Given the description of an element on the screen output the (x, y) to click on. 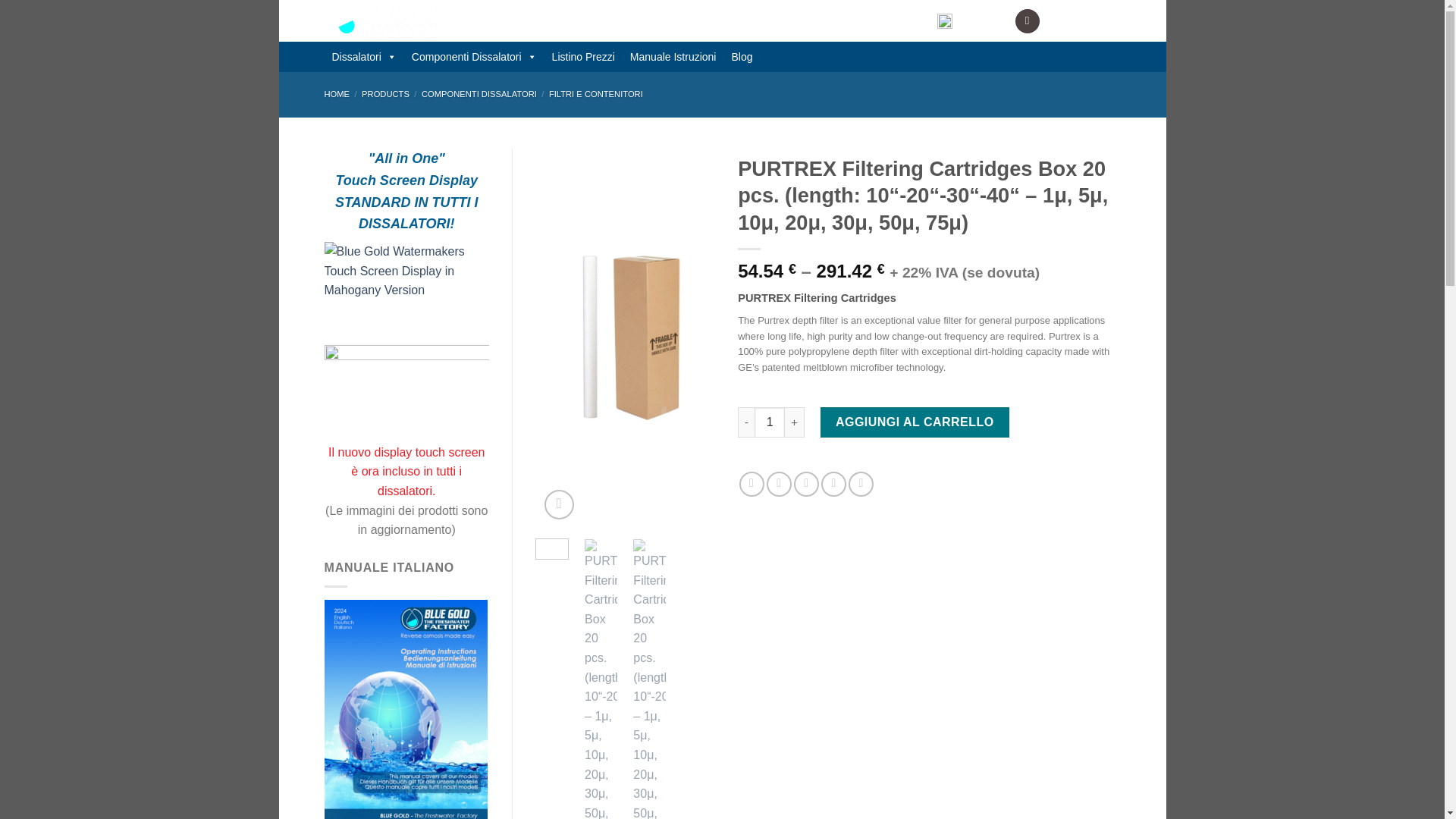
Pin su Pinterest (833, 483)
Condividi su LinkedIn (860, 483)
1 (769, 422)
Condividi su Twitter (779, 483)
Invia per email ad un Amico (805, 483)
Componenti Dissalatori (474, 56)
Dissalatori (364, 56)
Condividi su Facebook (751, 483)
Zoom (558, 504)
